Given the description of an element on the screen output the (x, y) to click on. 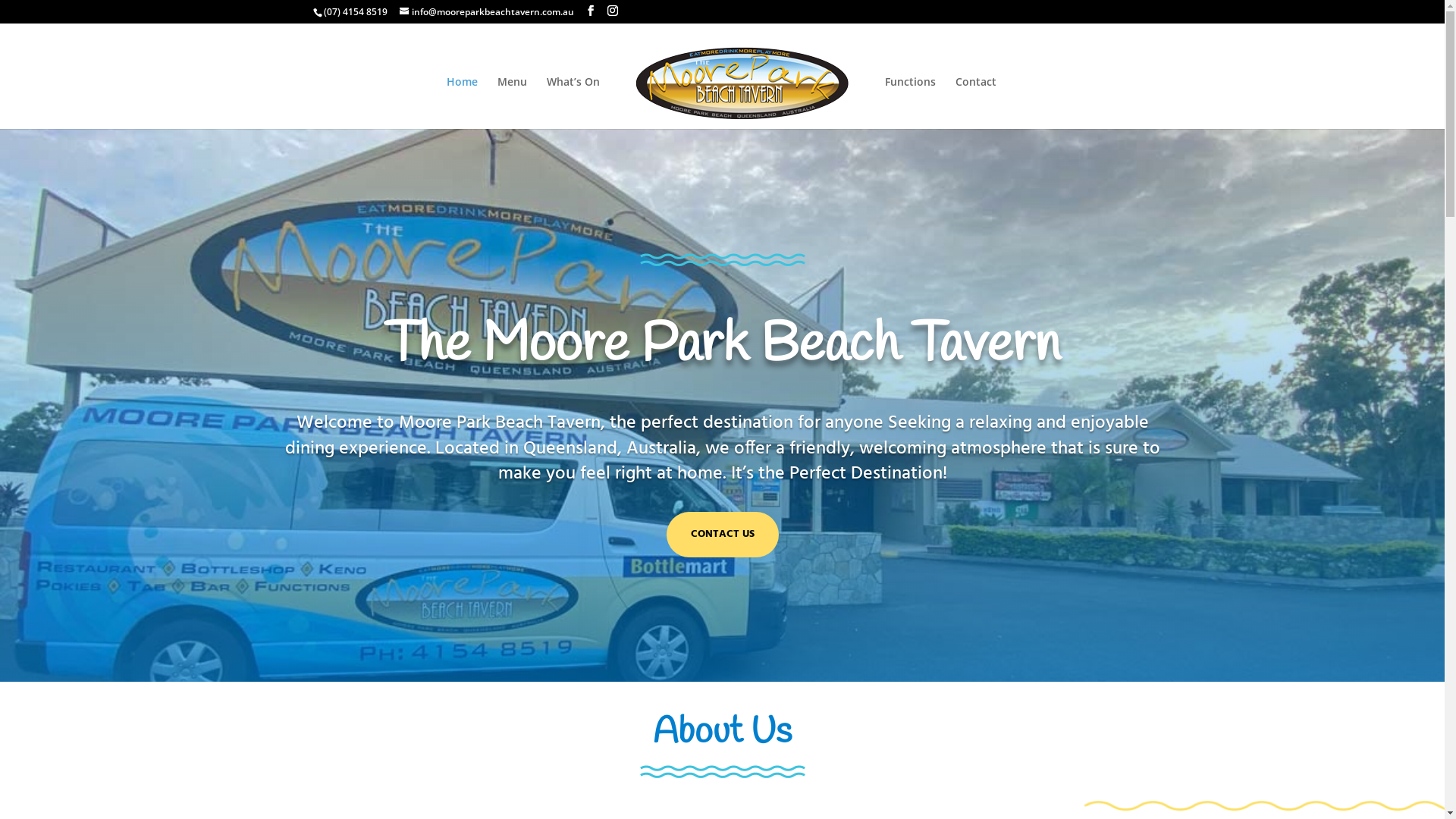
CONTACT US Element type: text (721, 534)
info@mooreparkbeachtavern.com.au Element type: text (485, 11)
Menu Element type: text (512, 102)
squiggle2 Element type: hover (722, 259)
Home Element type: text (461, 102)
squiggle2 Element type: hover (722, 771)
Contact Element type: text (975, 102)
Functions Element type: text (909, 102)
